Given the description of an element on the screen output the (x, y) to click on. 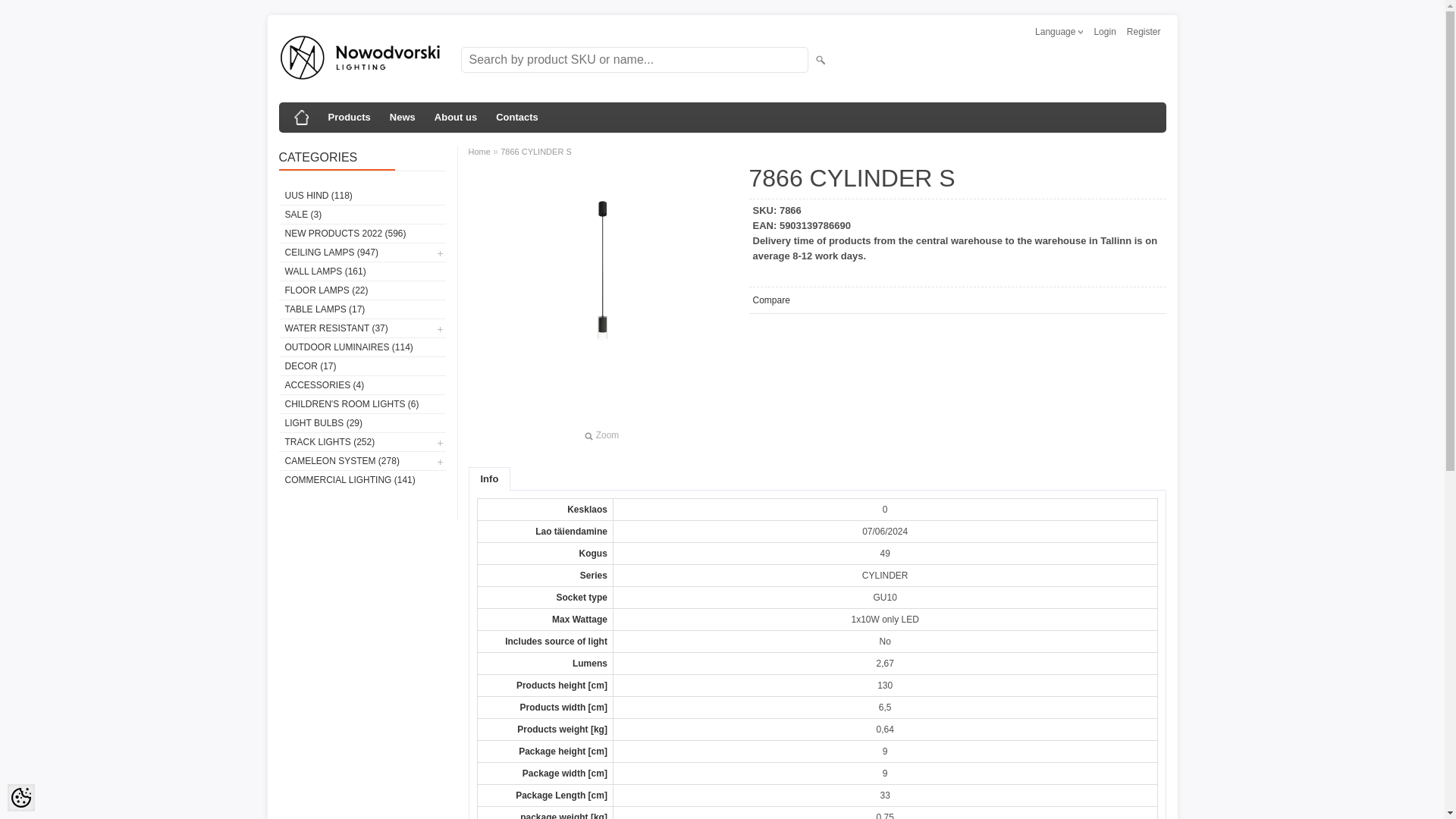
About us (455, 117)
Products (348, 117)
7866  CYLINDER S (601, 434)
Contacts (516, 117)
Register (1143, 31)
Home (301, 117)
Login (1104, 31)
Compare (770, 299)
Cookie Preferences (20, 797)
7866  CYLINDER S (600, 296)
News (402, 117)
